Given the description of an element on the screen output the (x, y) to click on. 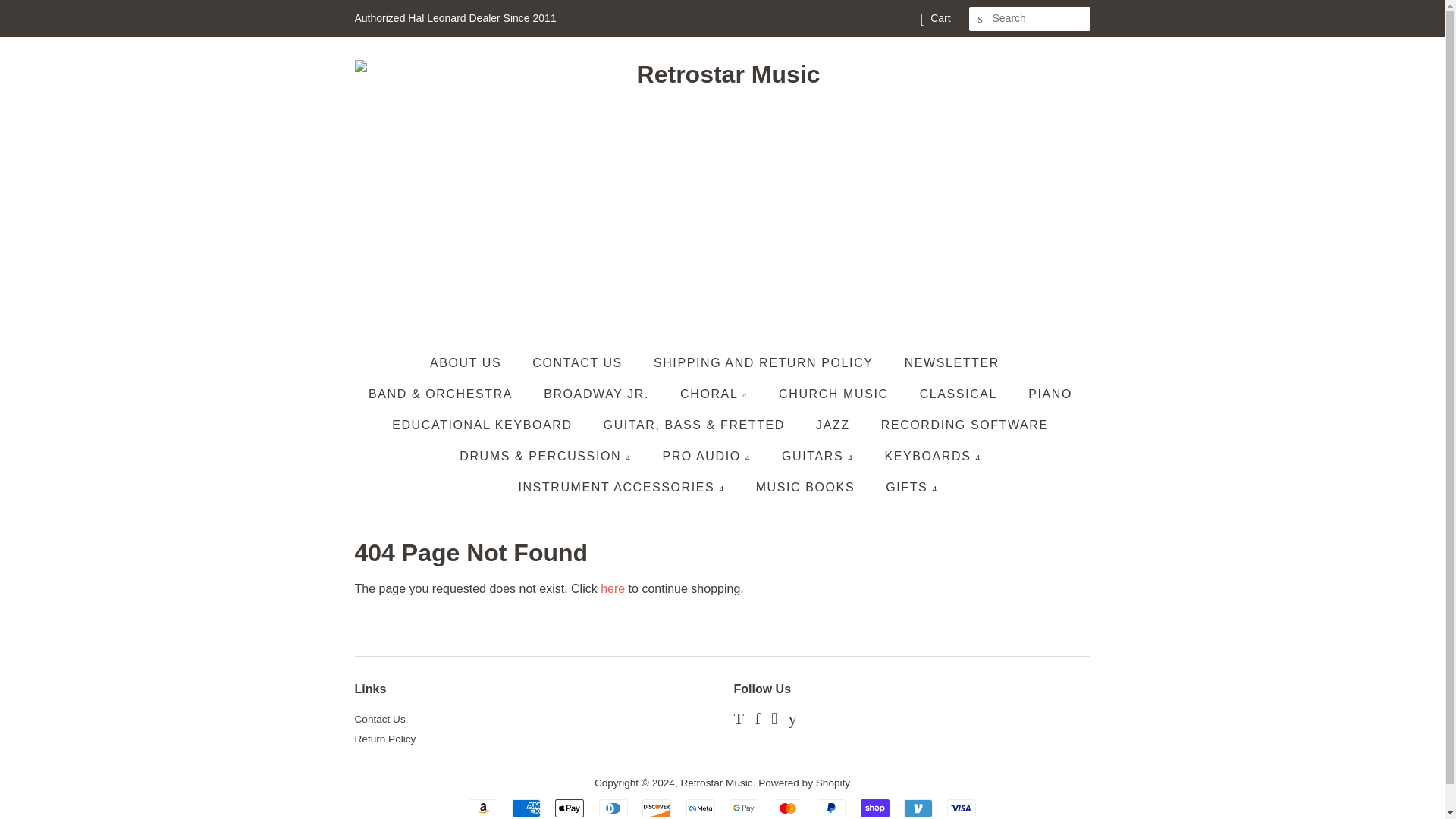
Amazon (482, 808)
Mastercard (787, 808)
Google Pay (743, 808)
Discover (656, 808)
Diners Club (612, 808)
SEARCH (980, 18)
Authorized Hal Leonard Dealer Since 2011 (455, 18)
Meta Pay (699, 808)
Shop Pay (874, 808)
Visa (961, 808)
